Given the description of an element on the screen output the (x, y) to click on. 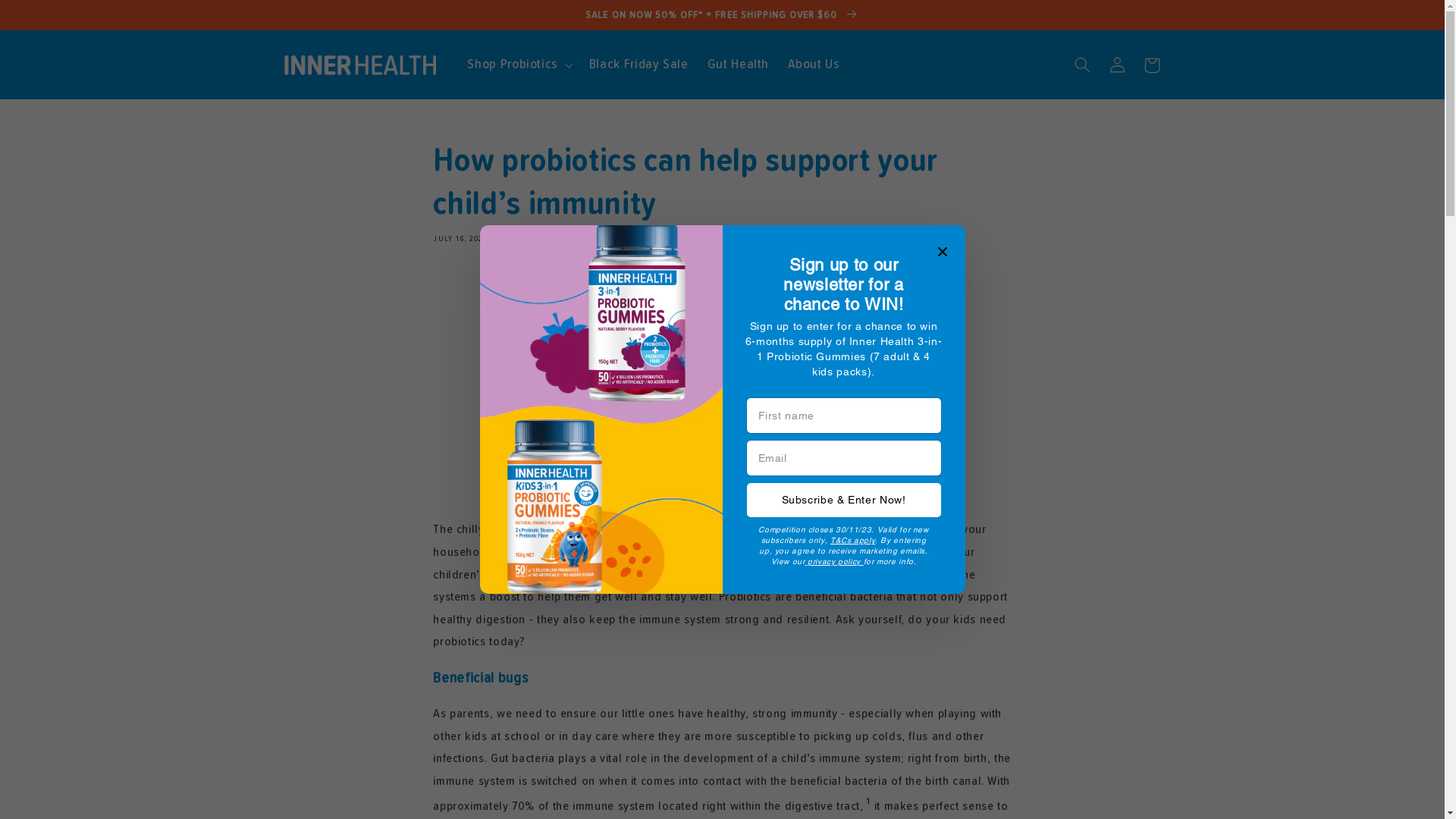
About Us Element type: text (813, 65)
Gut Health Element type: text (737, 65)
Cart Element type: text (1151, 64)
SALE ON NOW 50% OFF* + FREE SHIPPING OVER $60 Element type: text (722, 14)
Black Friday Sale Element type: text (638, 65)
Log in Element type: text (1116, 64)
